Given the description of an element on the screen output the (x, y) to click on. 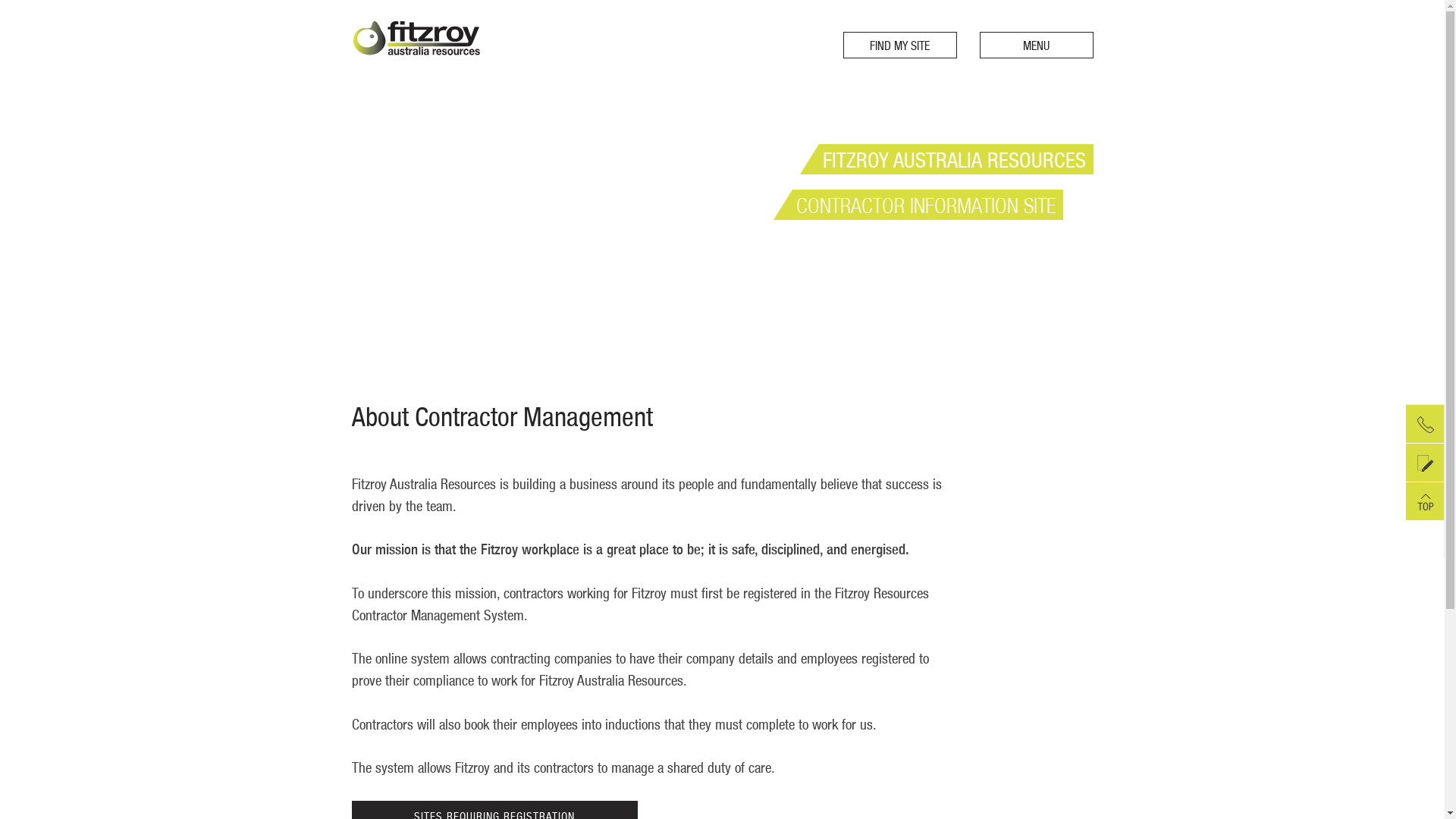
FIND MY SITE Element type: text (900, 44)
Fitzroy Resources Element type: text (416, 65)
MENU Element type: text (1036, 44)
